Given the description of an element on the screen output the (x, y) to click on. 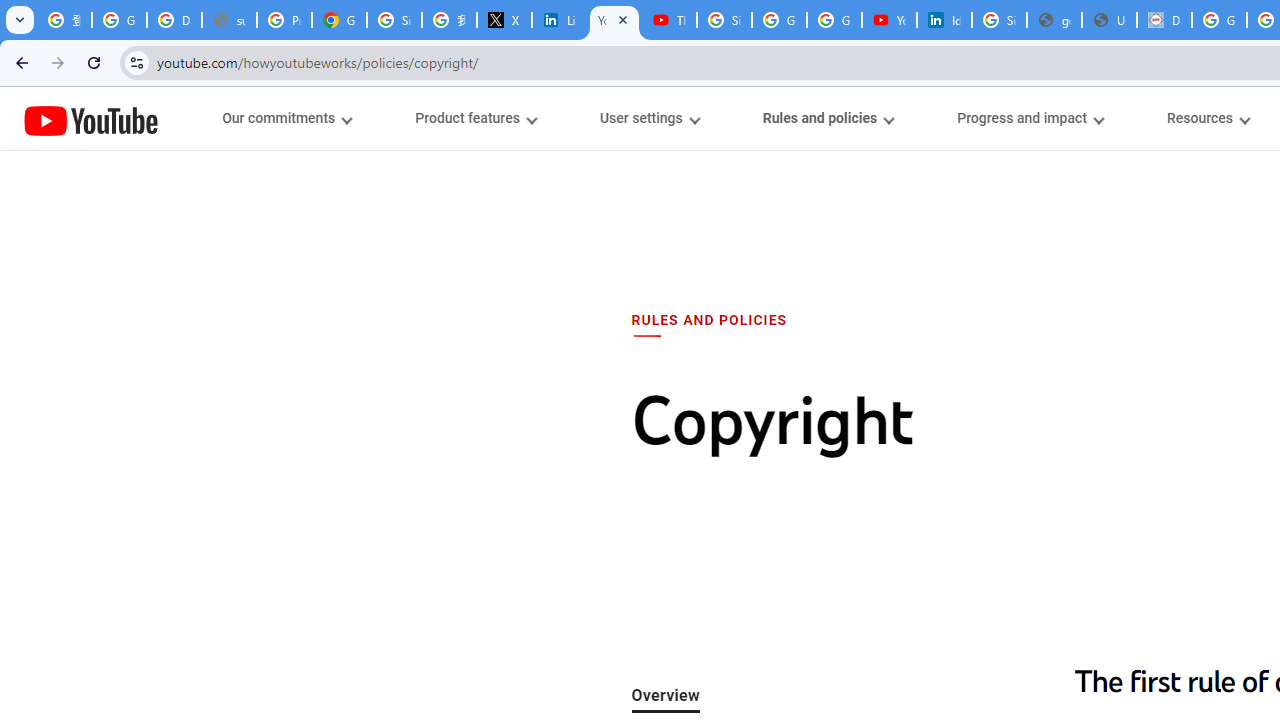
Sign in - Google Accounts (394, 20)
Sign in - Google Accounts (998, 20)
YouTube (91, 120)
Close (623, 19)
X (504, 20)
How YouTube Works (91, 118)
Rules and policies menupopup (827, 118)
Forward (57, 62)
Sign in - Google Accounts (724, 20)
